Given the description of an element on the screen output the (x, y) to click on. 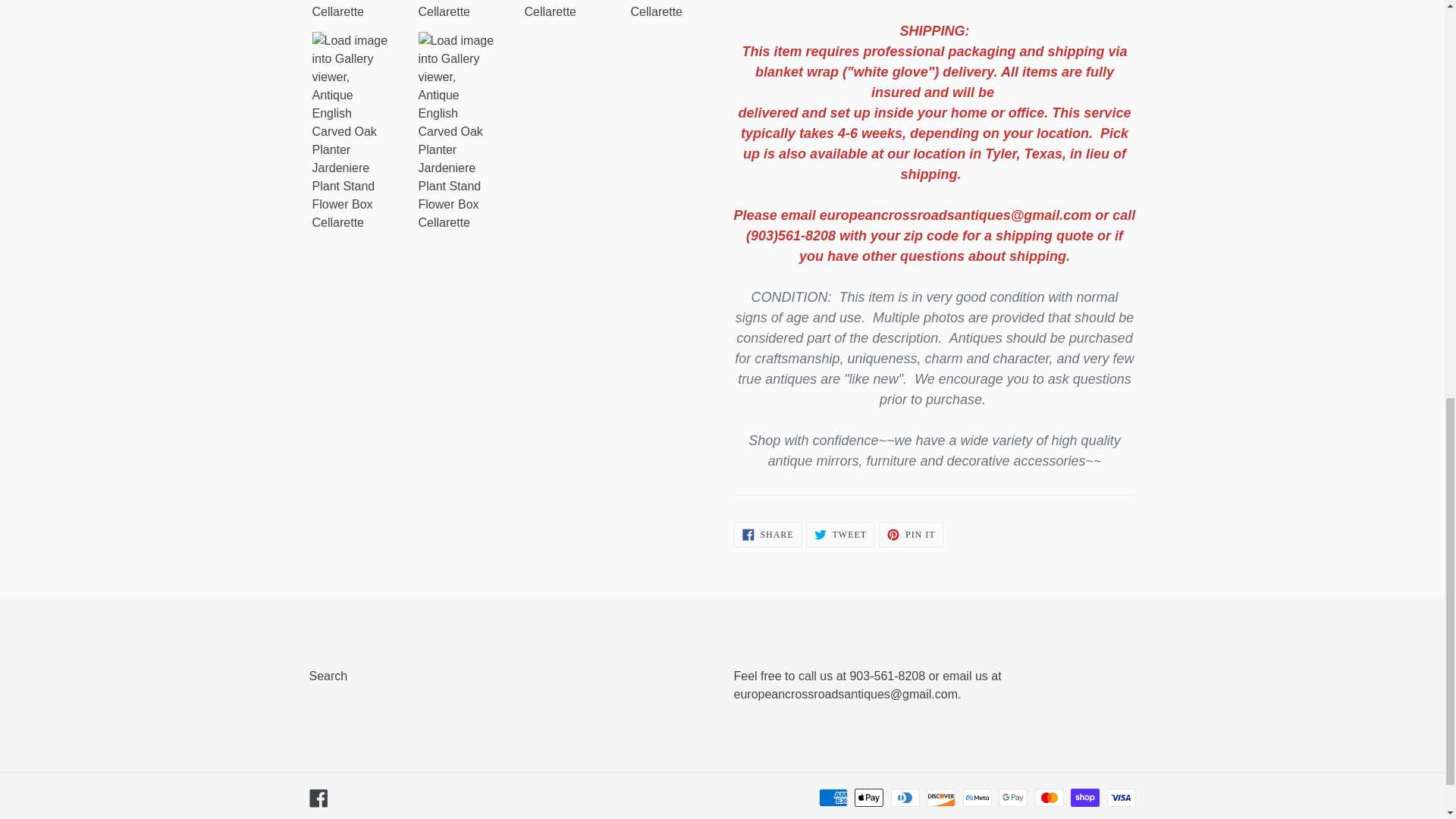
Search (911, 534)
Facebook (767, 534)
